Given the description of an element on the screen output the (x, y) to click on. 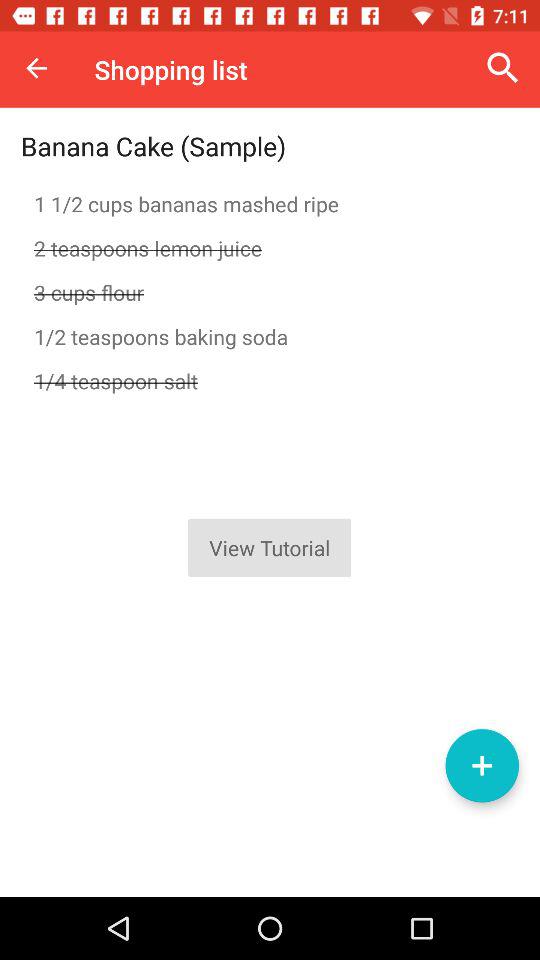
add to shopping list (482, 765)
